Given the description of an element on the screen output the (x, y) to click on. 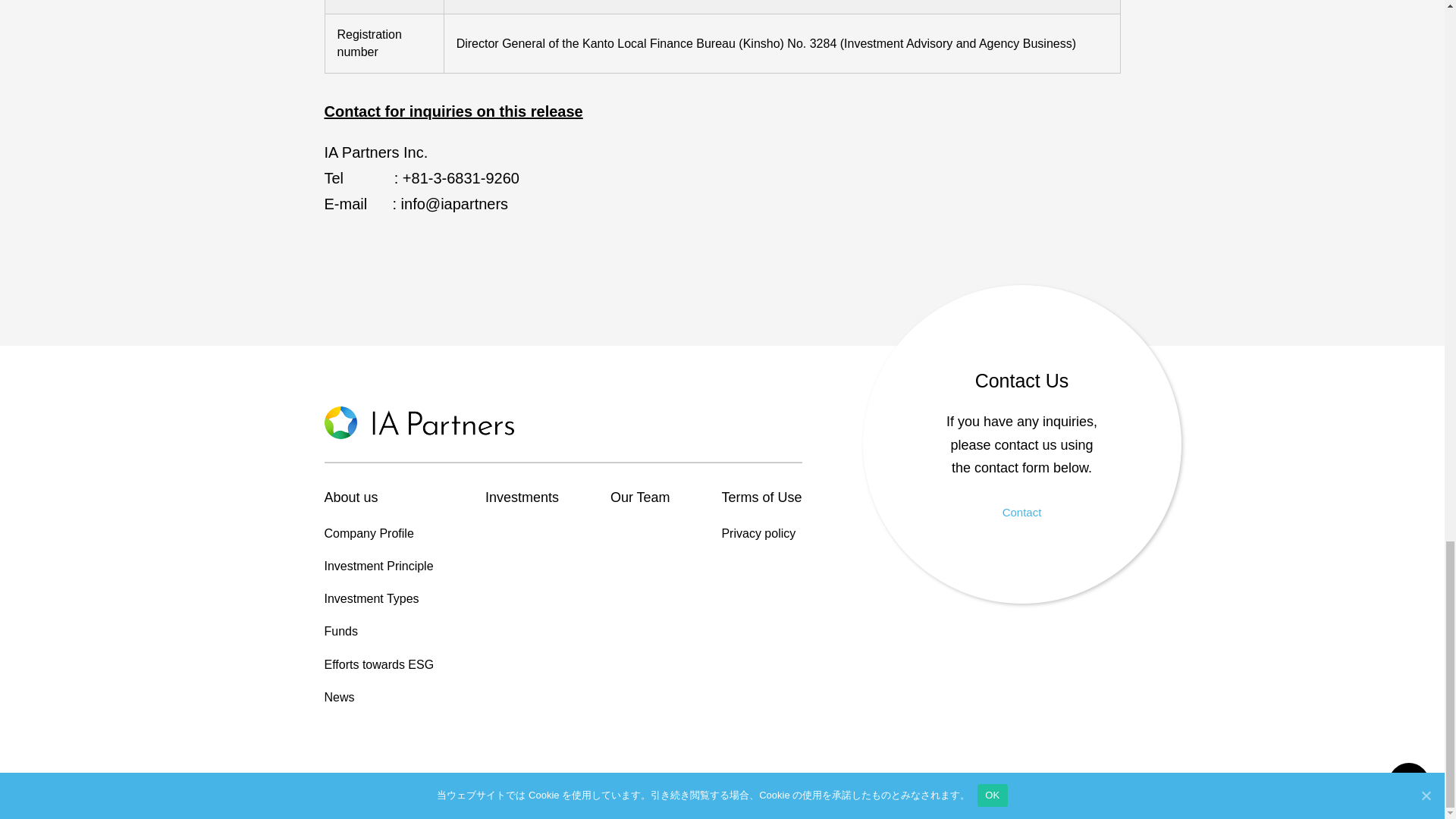
Our Team (639, 497)
Investment Principle (378, 566)
Contact (1022, 512)
Investments (521, 497)
Funds (378, 630)
News (378, 697)
Privacy policy (761, 533)
Company Profile (378, 533)
Investment Types (378, 598)
Efforts towards ESG (378, 664)
